Given the description of an element on the screen output the (x, y) to click on. 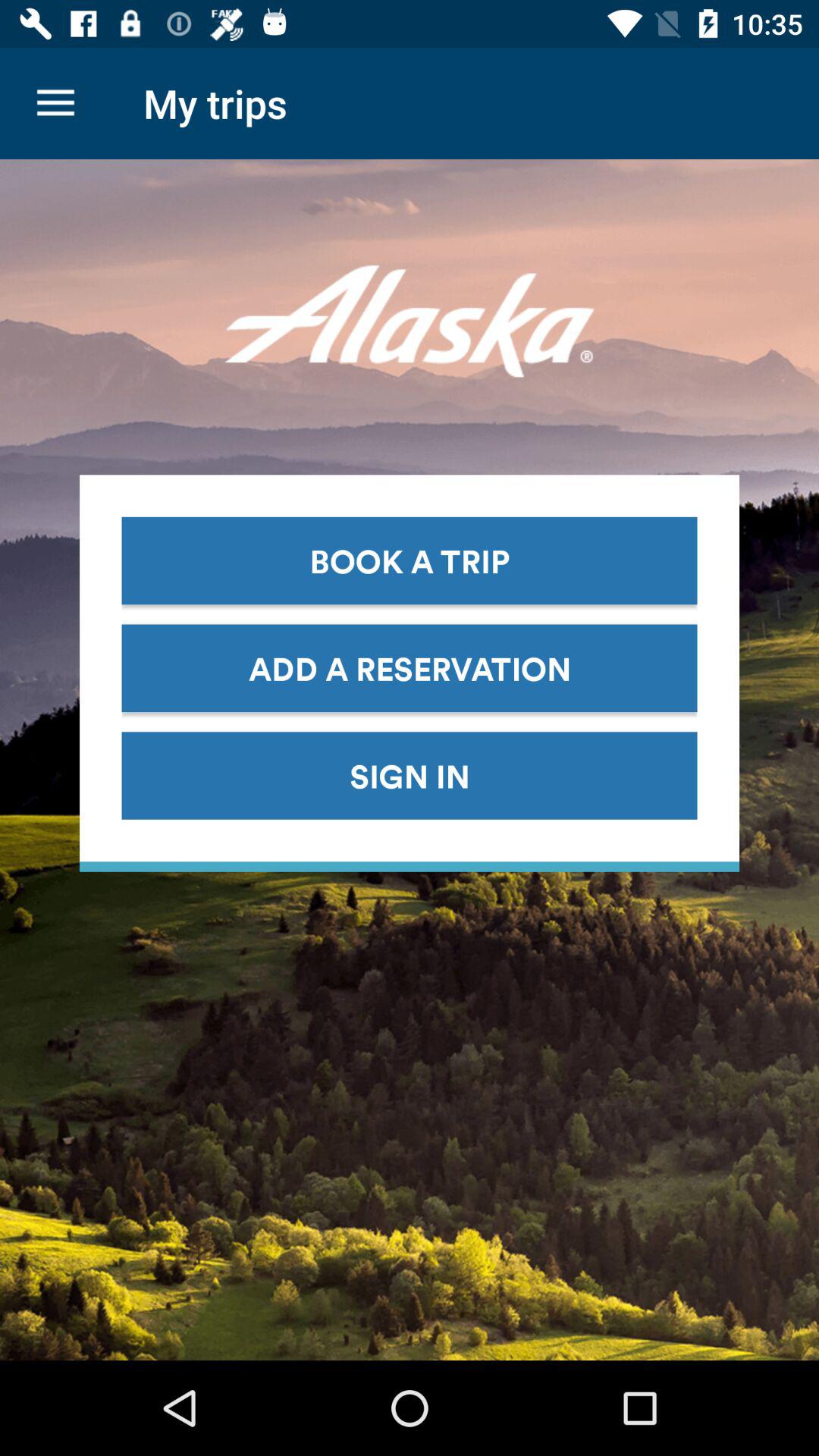
flip until the add a reservation icon (409, 668)
